Given the description of an element on the screen output the (x, y) to click on. 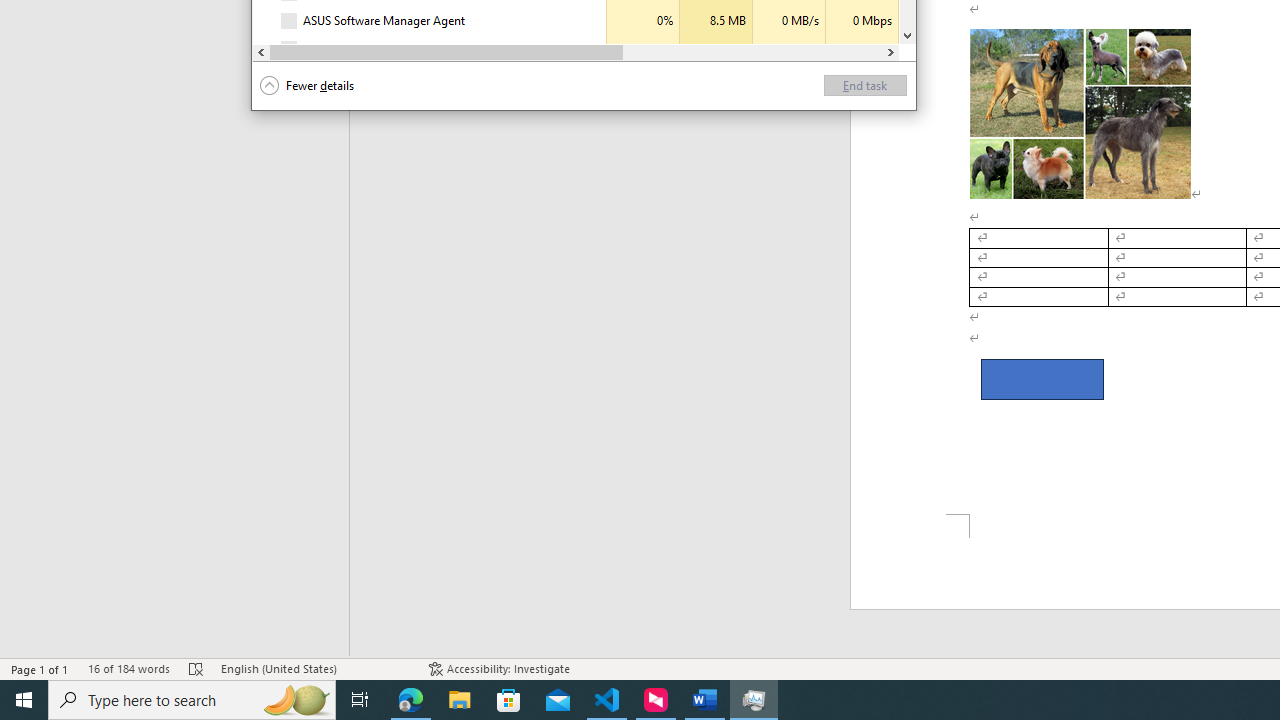
Rectangle 2 (1041, 379)
Column right (889, 52)
Spelling and Grammar Check Errors (196, 668)
CPU (642, 49)
AutomationID: TmColStatusText (490, 49)
Task Manager - 1 running window (753, 699)
Line down (907, 35)
Morphological variation in six dogs (1080, 113)
Start (24, 699)
Search highlights icon opens search home window (295, 699)
Horizontal (575, 52)
Page Number Page 1 of 1 (39, 668)
Memory (715, 49)
Column left (261, 52)
